Given the description of an element on the screen output the (x, y) to click on. 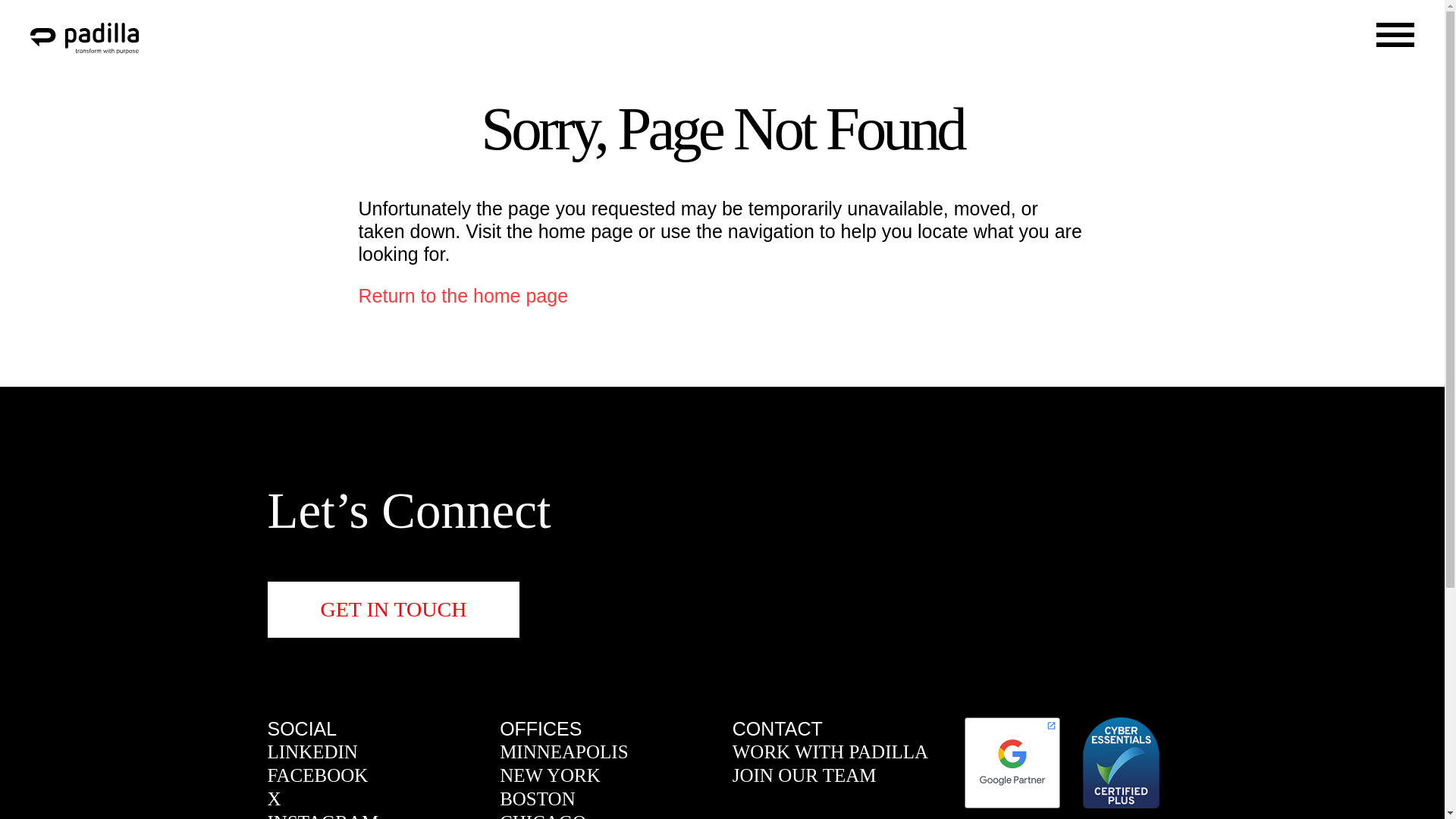
Padilla: Transform With Purpose (84, 38)
CHICAGO (542, 815)
MINNEAPOLIS (563, 752)
BOSTON (537, 798)
FACEBOOK (317, 775)
WORK WITH PADILLA (830, 752)
Padilla: Transform With Purpose (84, 46)
INSTAGRAM (322, 815)
Return to the home page (462, 295)
LINKEDIN (311, 752)
GET IN TOUCH (392, 609)
NEW YORK (549, 775)
JOIN OUR TEAM (804, 775)
